Given the description of an element on the screen output the (x, y) to click on. 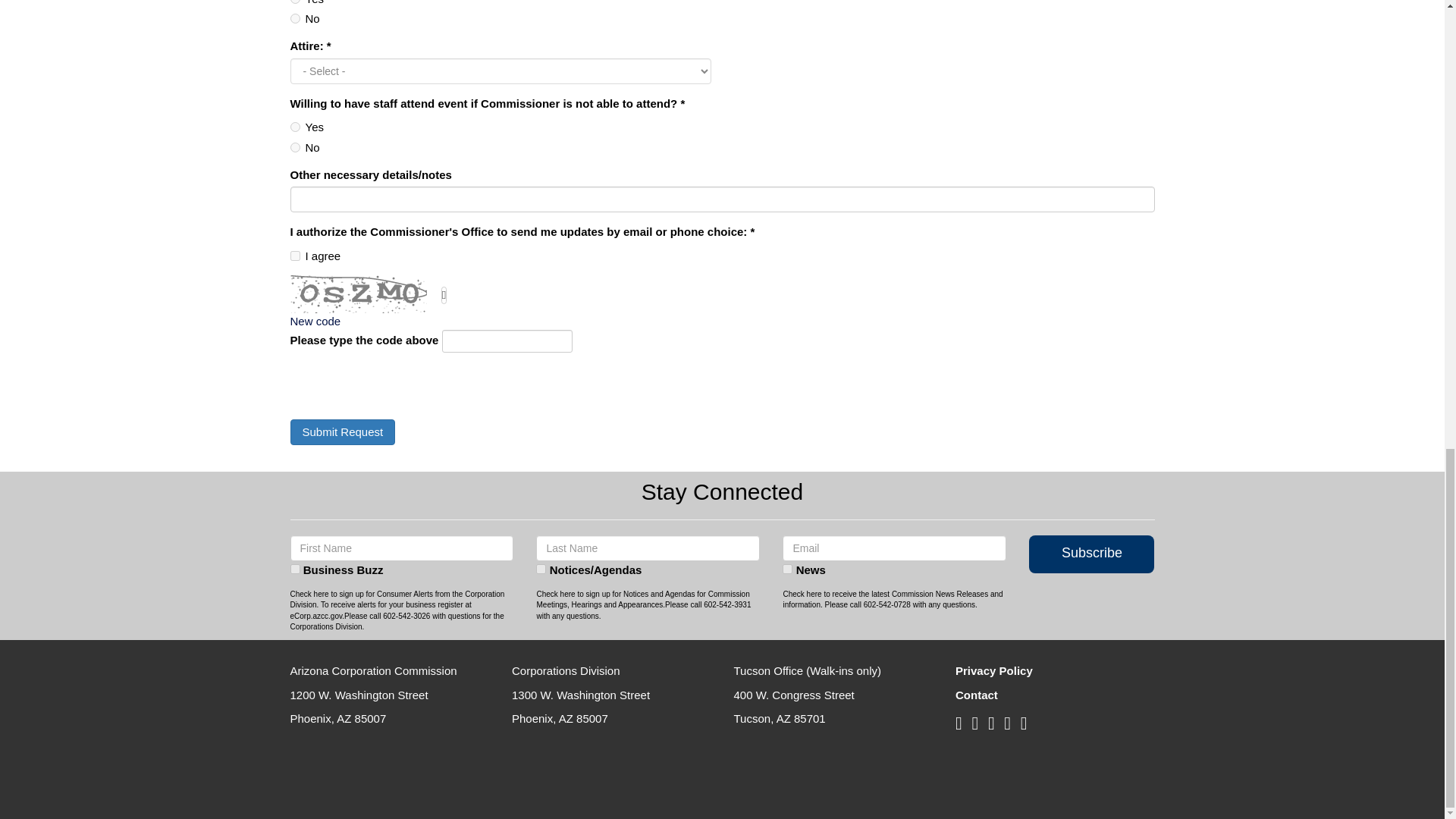
New code (314, 320)
No (294, 18)
No (294, 147)
Yes (294, 126)
Yes (294, 2)
Submit Request (341, 431)
Privacy Policy (993, 670)
Contact (976, 694)
